Given the description of an element on the screen output the (x, y) to click on. 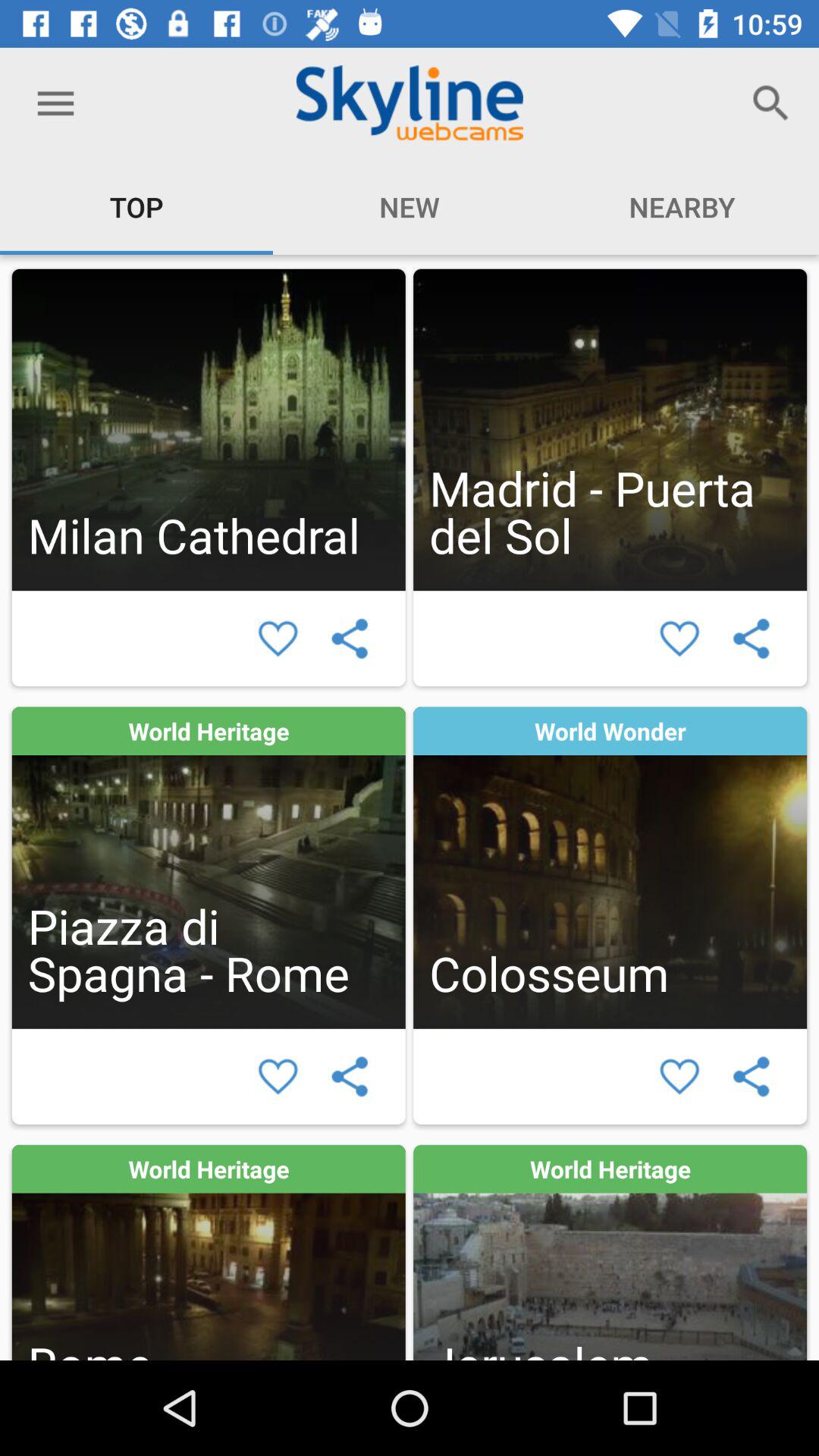
add to favorites (679, 1076)
